Given the description of an element on the screen output the (x, y) to click on. 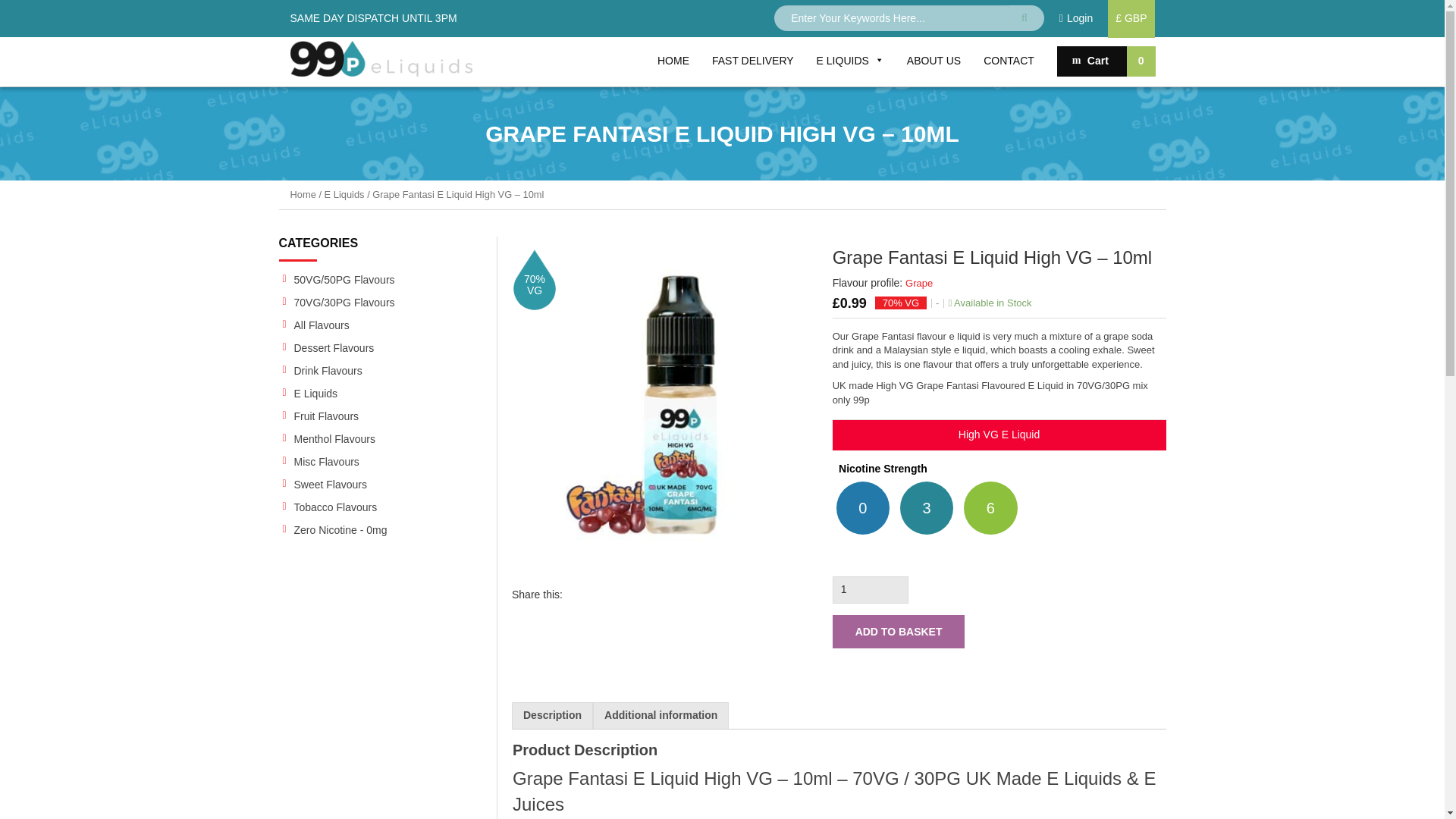
FAST DELIVERY (752, 60)
6 mg Nicotine Strength is in Stock (989, 507)
Qty (870, 589)
Cart 0 (1105, 60)
CONTACT (1008, 60)
E LIQUIDS (850, 60)
HOME (673, 60)
ABOUT US (933, 60)
0 mg Nicotine Strength is in Stock (862, 507)
3 mg Nicotine Strength is in Stock (926, 507)
1 (870, 589)
